Given the description of an element on the screen output the (x, y) to click on. 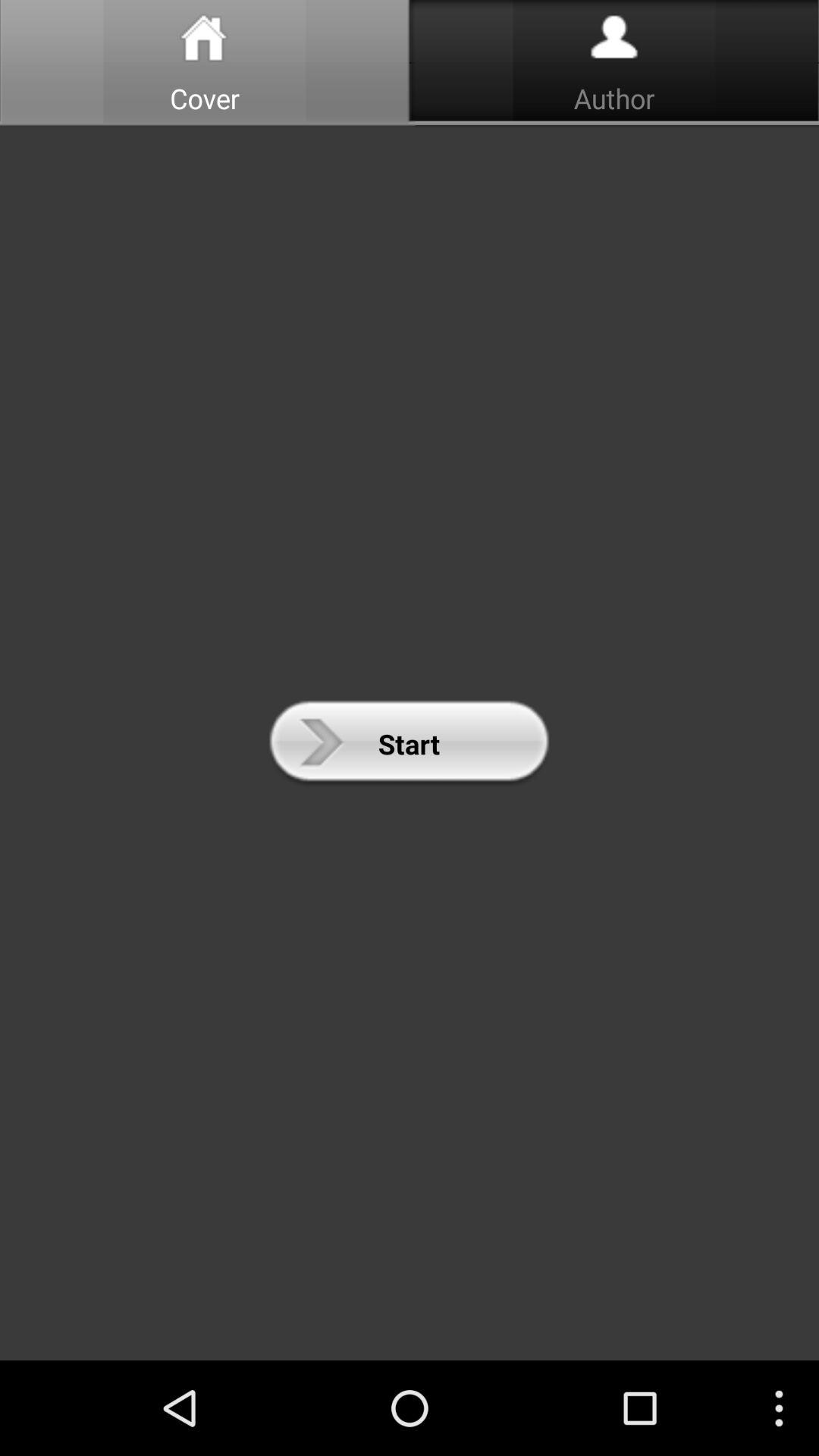
scroll until the start item (408, 743)
